Given the description of an element on the screen output the (x, y) to click on. 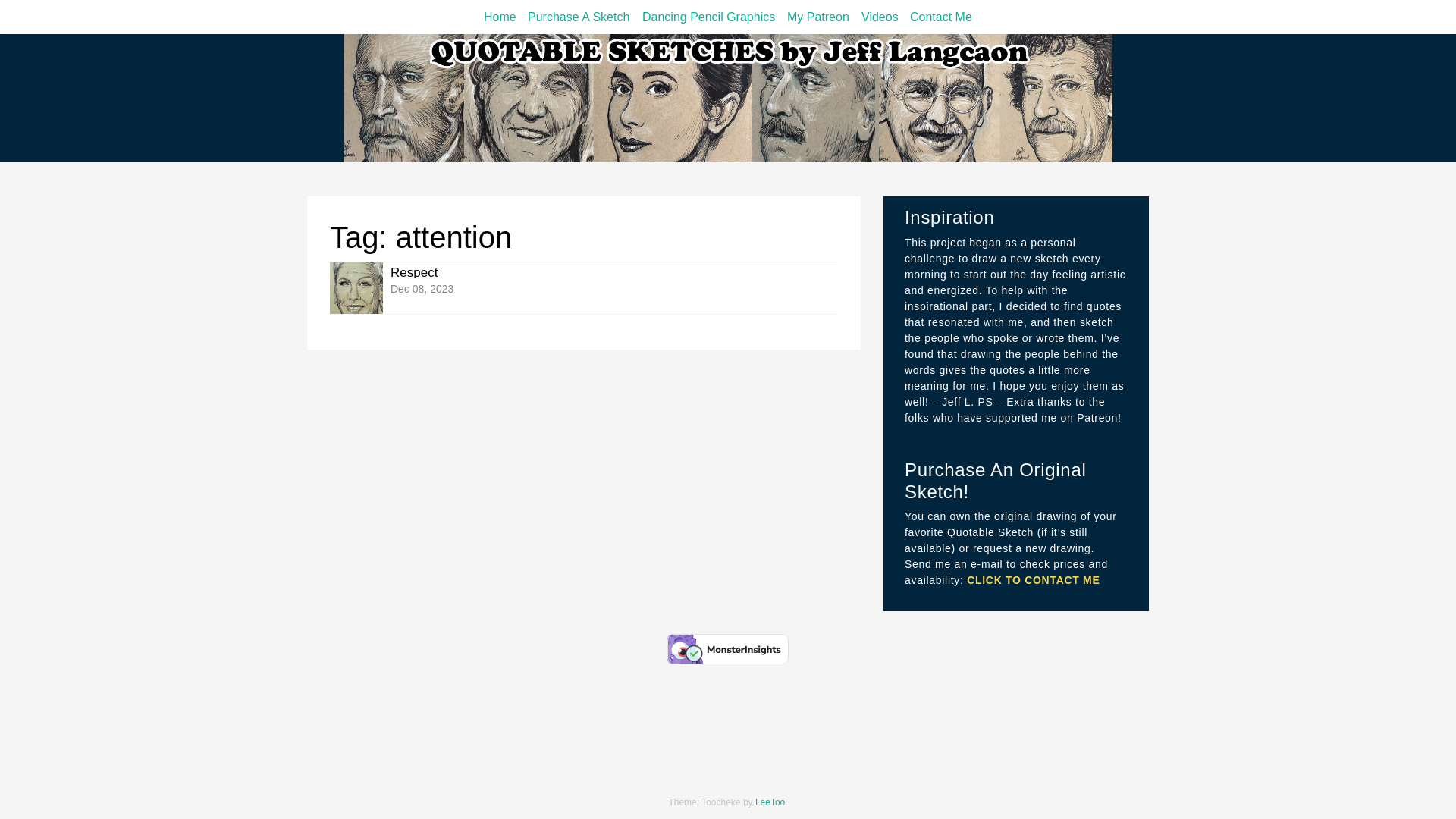
Home (499, 16)
Dancing Pencil Graphics (708, 16)
Contact Me (941, 16)
Contact Me (584, 288)
Dancing Pencil Graphics (941, 16)
CLICK TO CONTACT ME (708, 16)
Purchase A Sketch (1032, 580)
Videos (577, 16)
Purchase A Sketch (880, 16)
My Patreon (577, 16)
Videos (818, 16)
Home (880, 16)
My Patreon (499, 16)
